Given the description of an element on the screen output the (x, y) to click on. 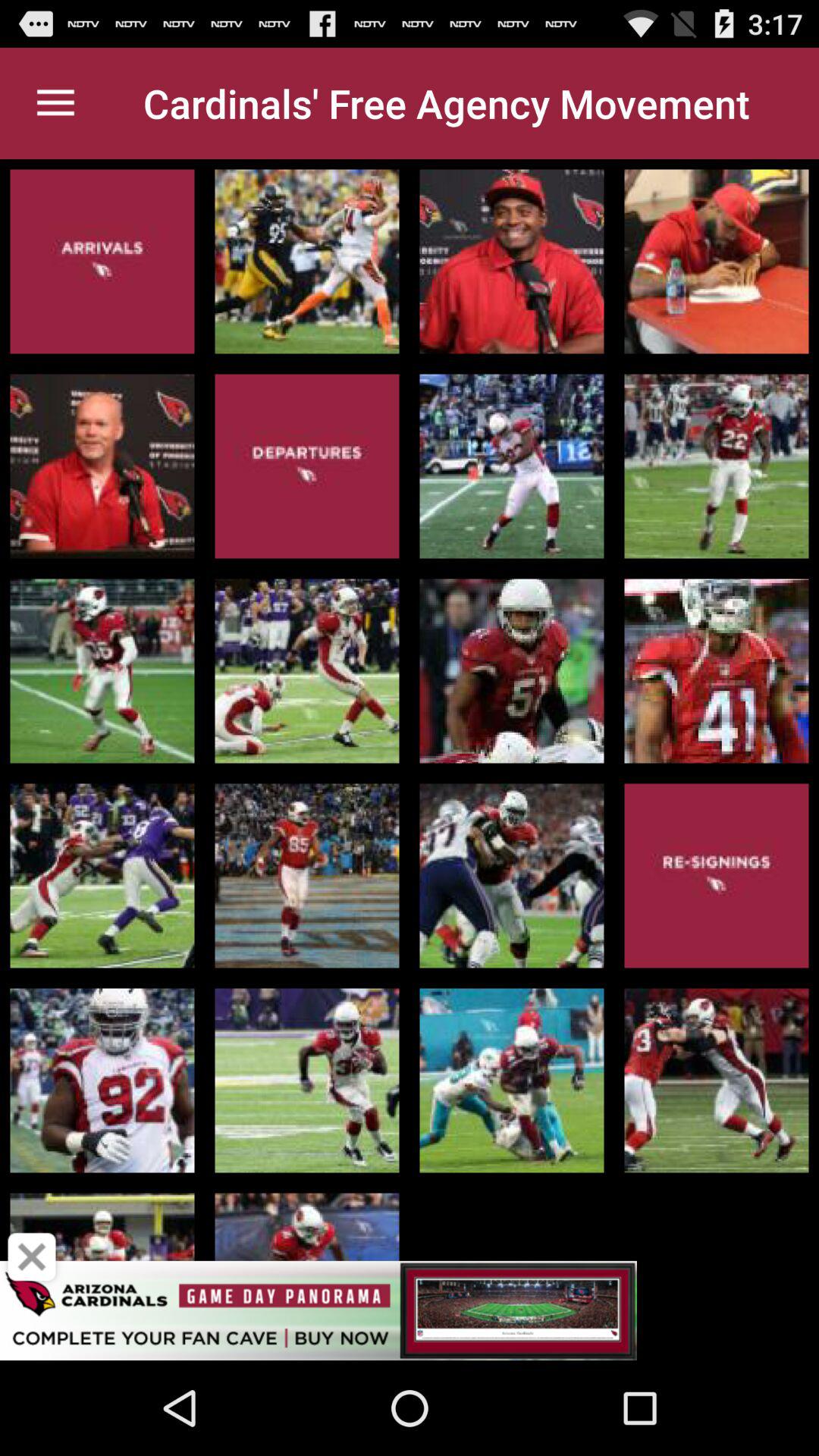
sponsored content (409, 1310)
